Given the description of an element on the screen output the (x, y) to click on. 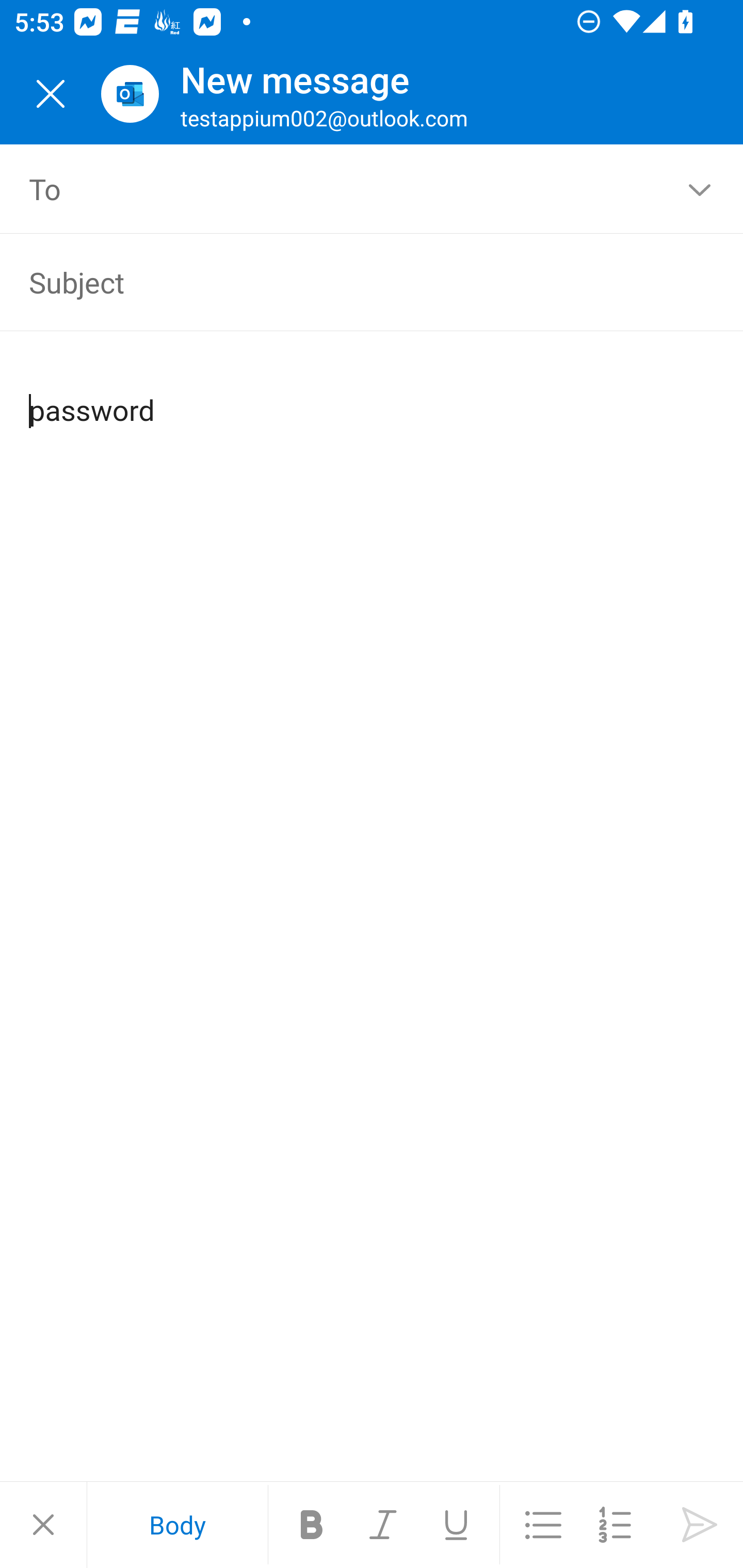
Close (50, 93)
Subject (342, 281)

password (372, 394)
Close (43, 1524)
Send (699, 1524)
Font style button body Body (176, 1524)
Bold (311, 1524)
Italics (384, 1524)
Underline (456, 1524)
Bulleted list (543, 1524)
Numbered list (615, 1524)
